Given the description of an element on the screen output the (x, y) to click on. 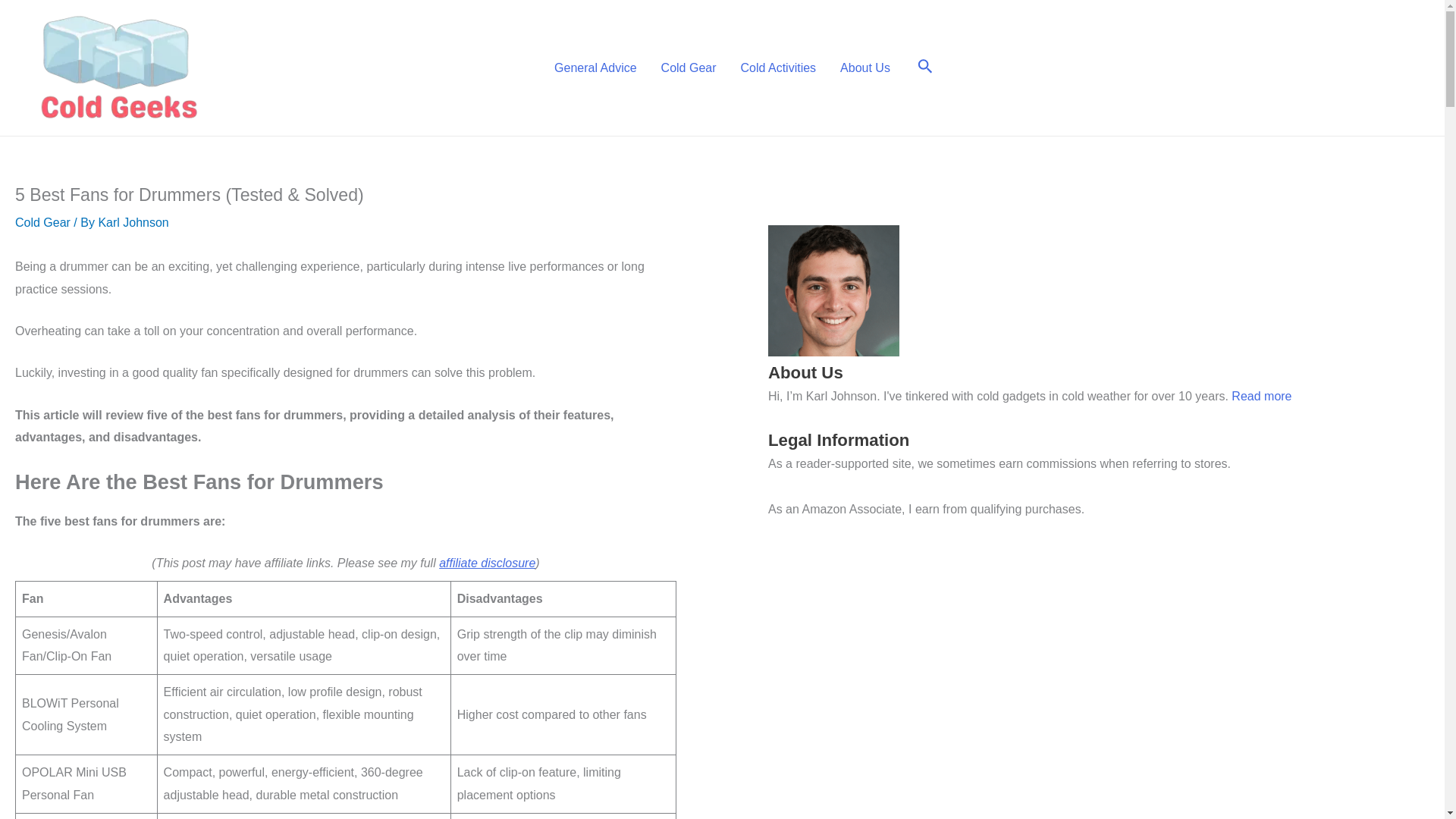
General Advice (595, 67)
Cold Gear (41, 222)
Cold Activities (778, 67)
affiliate disclosure (487, 562)
View all posts by Karl Johnson (132, 222)
About Us (865, 67)
Cold Gear (689, 67)
Karl Johnson (132, 222)
